Given the description of an element on the screen output the (x, y) to click on. 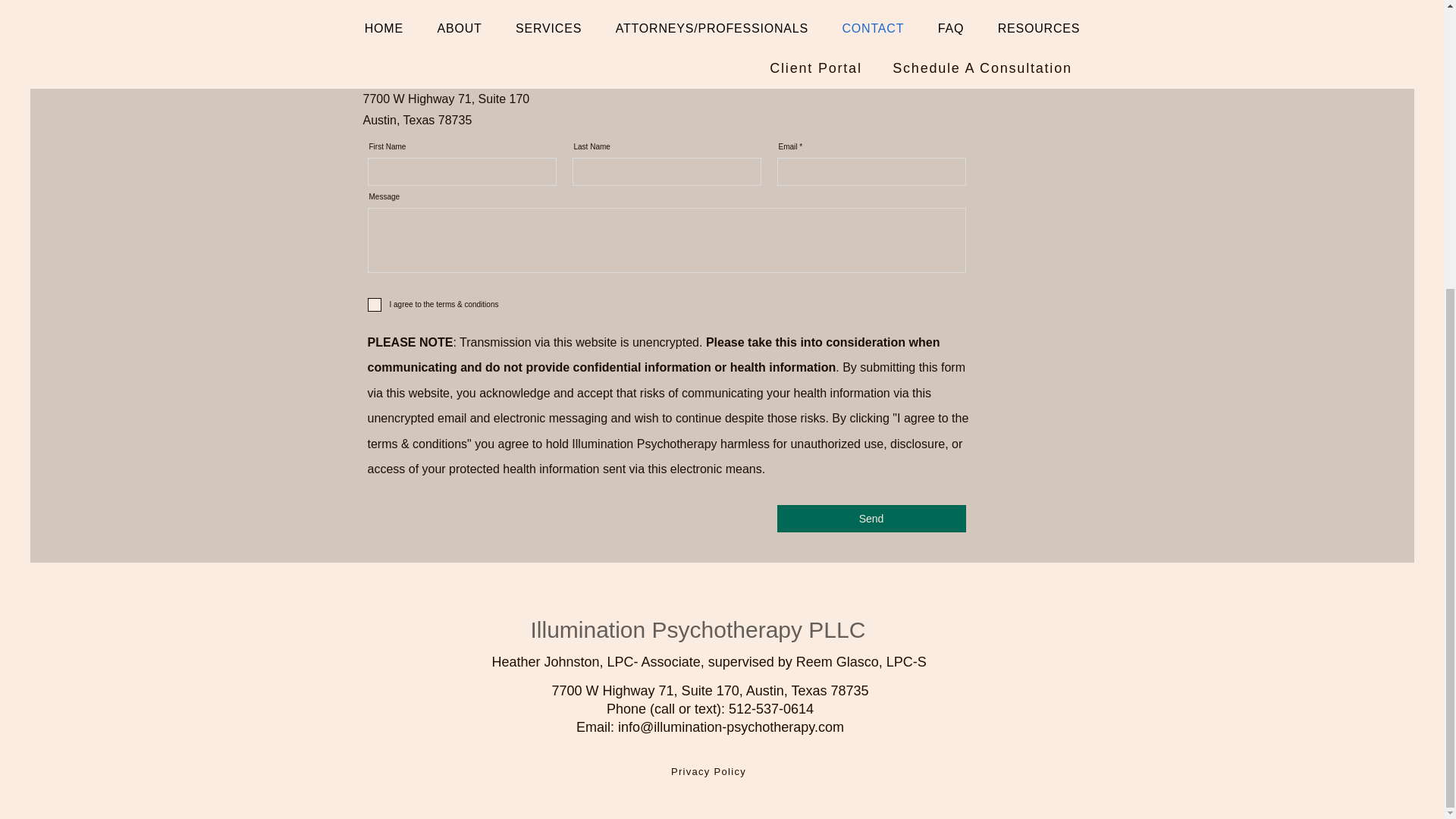
Call Now (507, 42)
Privacy Policy (710, 770)
Send (870, 518)
